Given the description of an element on the screen output the (x, y) to click on. 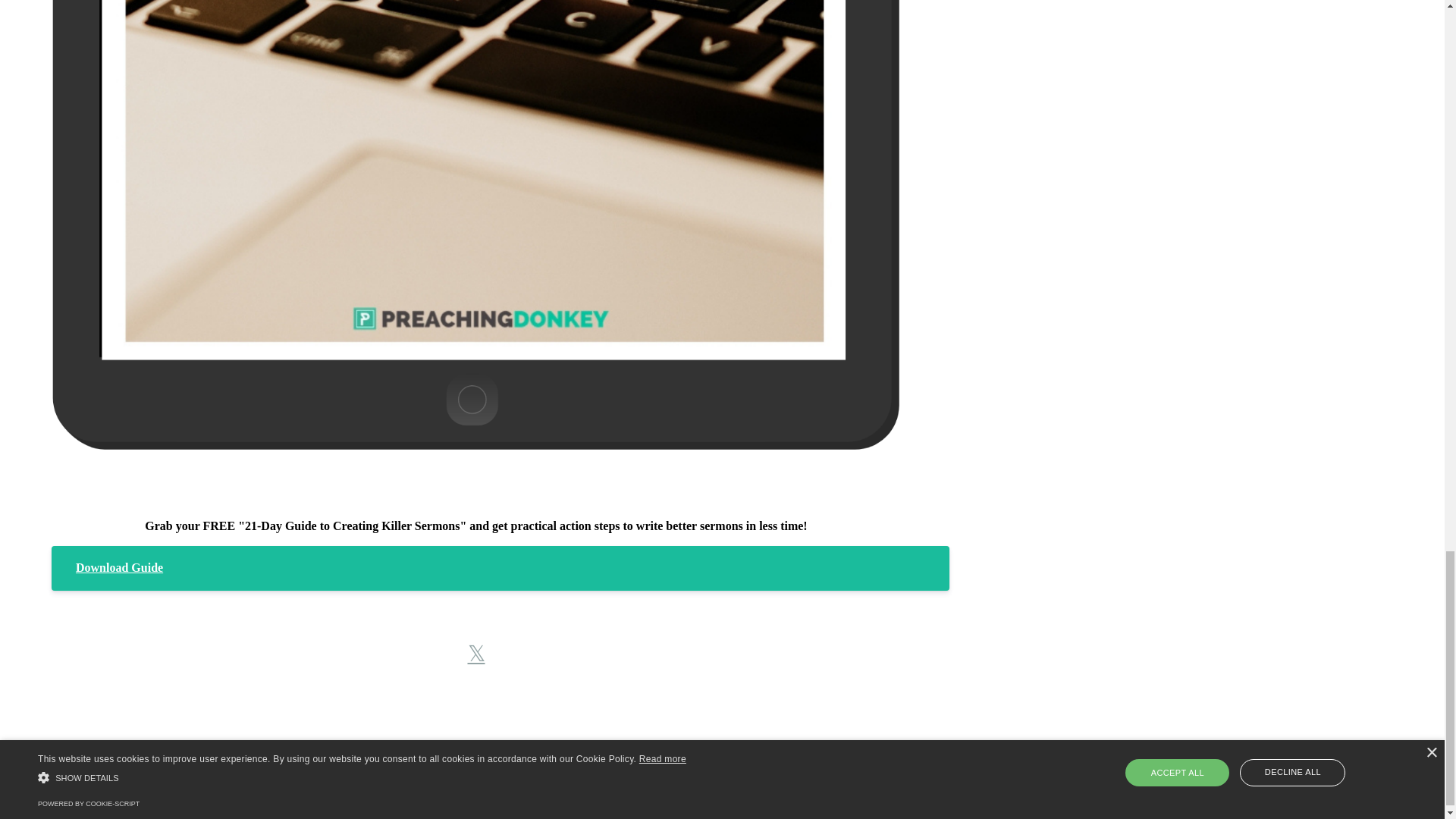
Privacy Policy (770, 786)
Download Guide (499, 567)
